Given the description of an element on the screen output the (x, y) to click on. 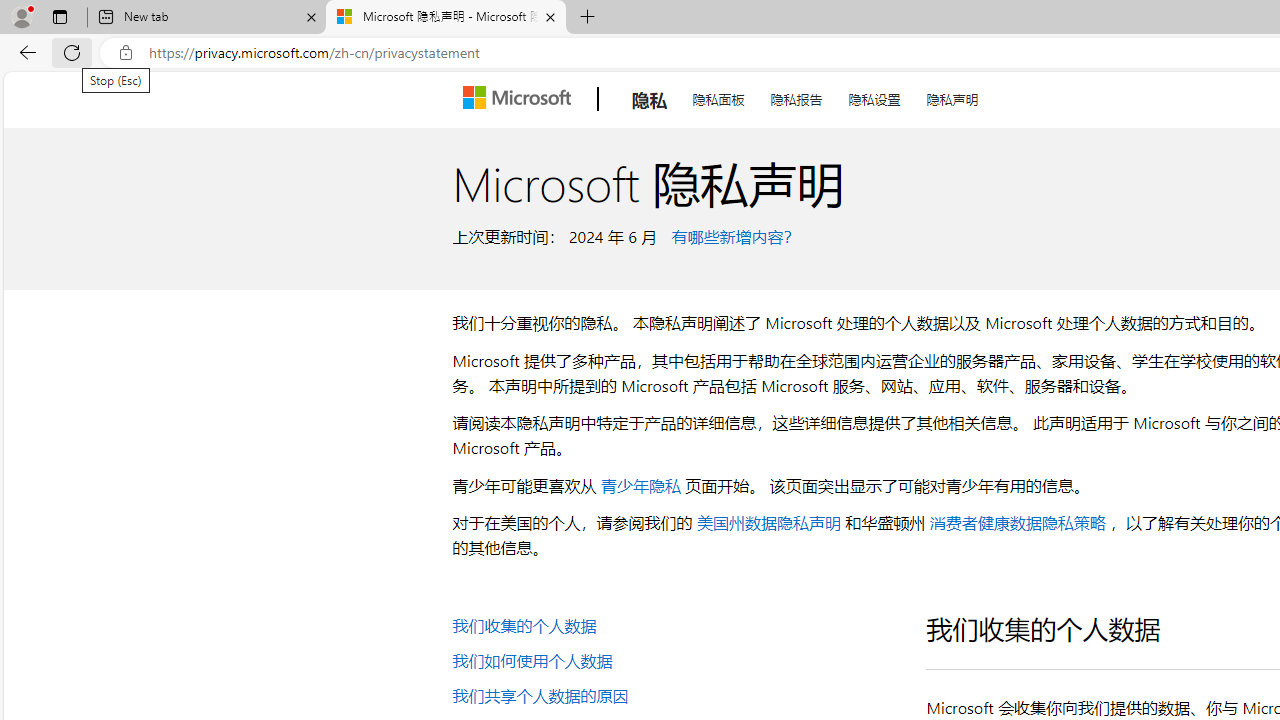
Microsoft (520, 99)
